Given the description of an element on the screen output the (x, y) to click on. 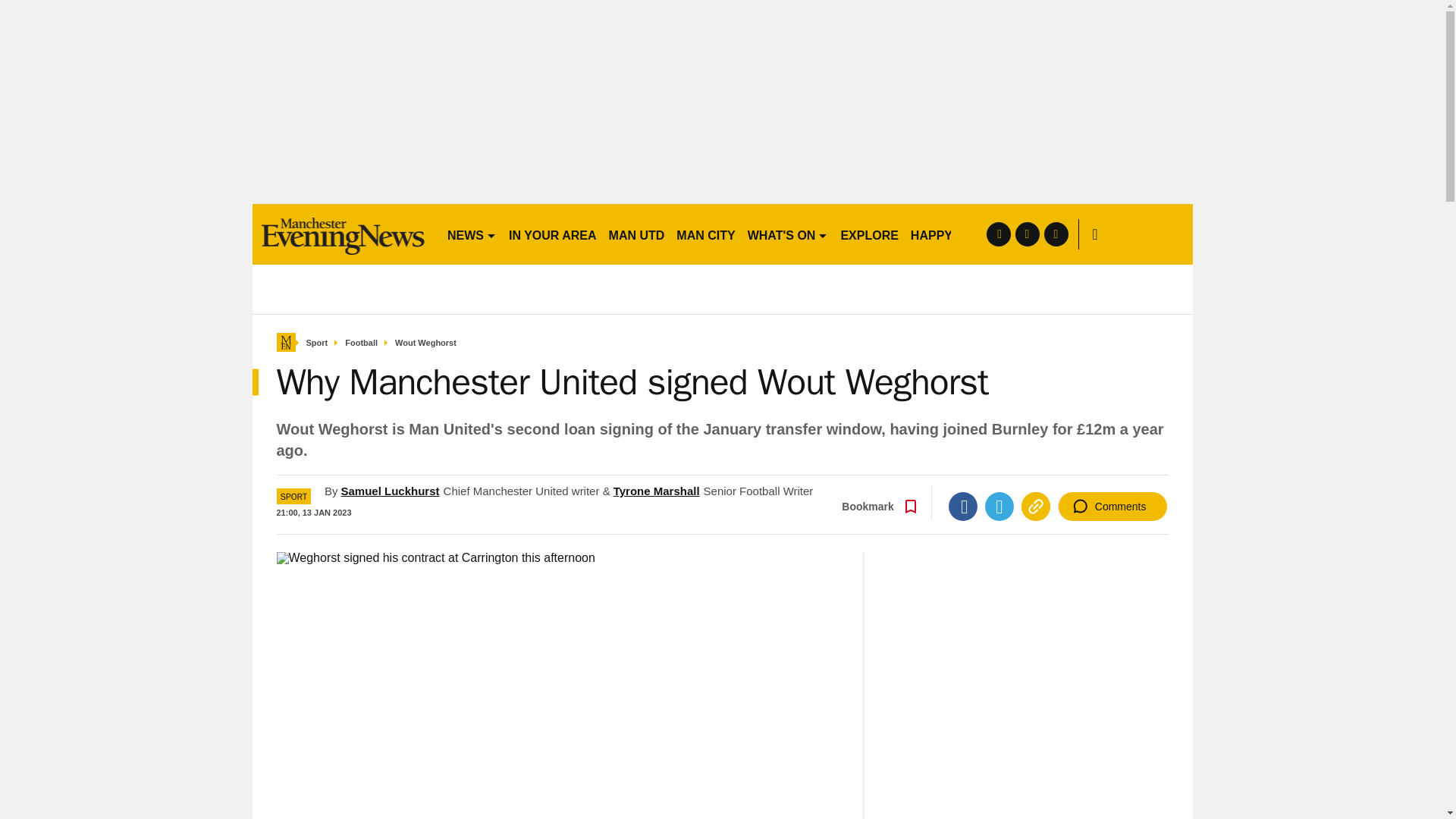
Facebook (962, 506)
Comments (1112, 506)
MAN UTD (636, 233)
twitter (1026, 233)
NEWS (471, 233)
instagram (1055, 233)
Twitter (999, 506)
MAN CITY (705, 233)
men (342, 233)
WHAT'S ON (787, 233)
